Given the description of an element on the screen output the (x, y) to click on. 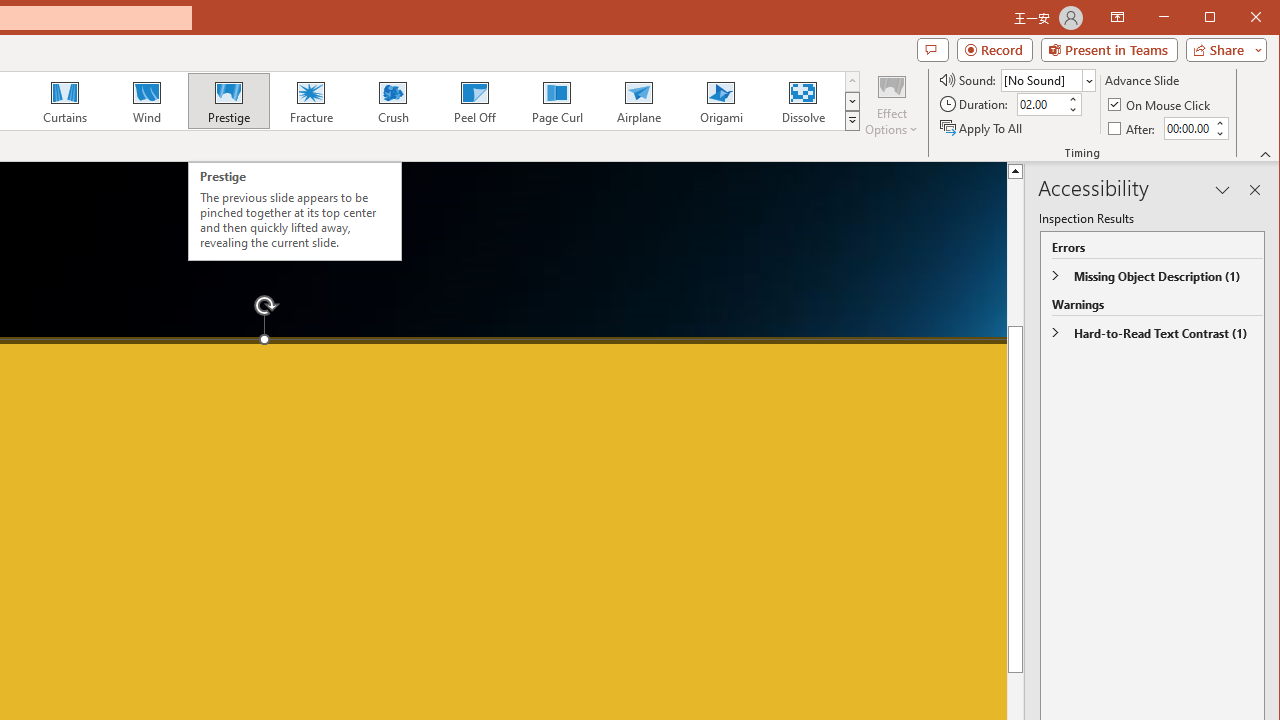
Prestige (229, 100)
On Mouse Click (1160, 103)
Dissolve (802, 100)
Transition Effects (852, 120)
Wind (147, 100)
Apply To All (982, 127)
